Given the description of an element on the screen output the (x, y) to click on. 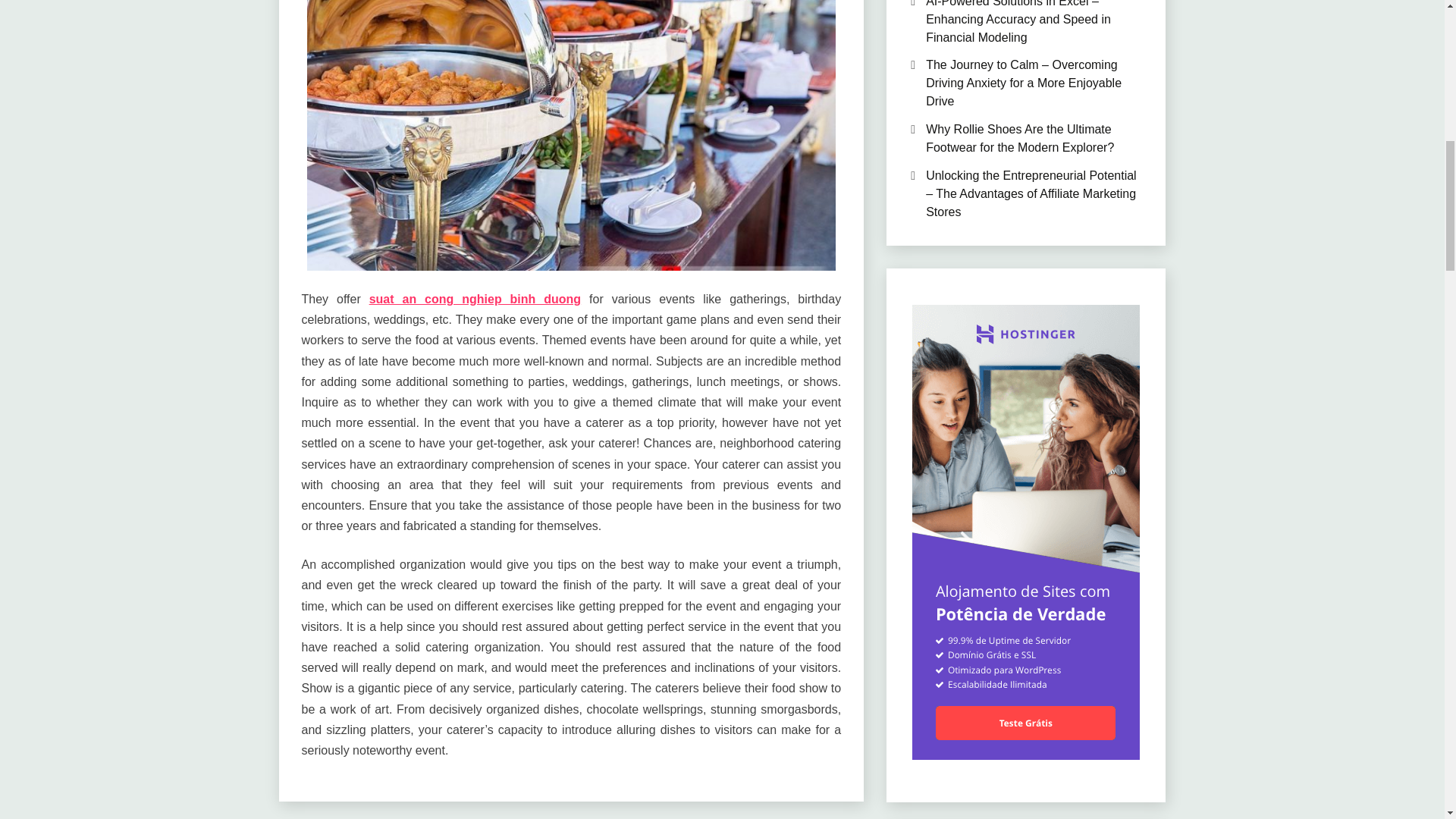
suat an cong nghiep binh duong (474, 298)
